Given the description of an element on the screen output the (x, y) to click on. 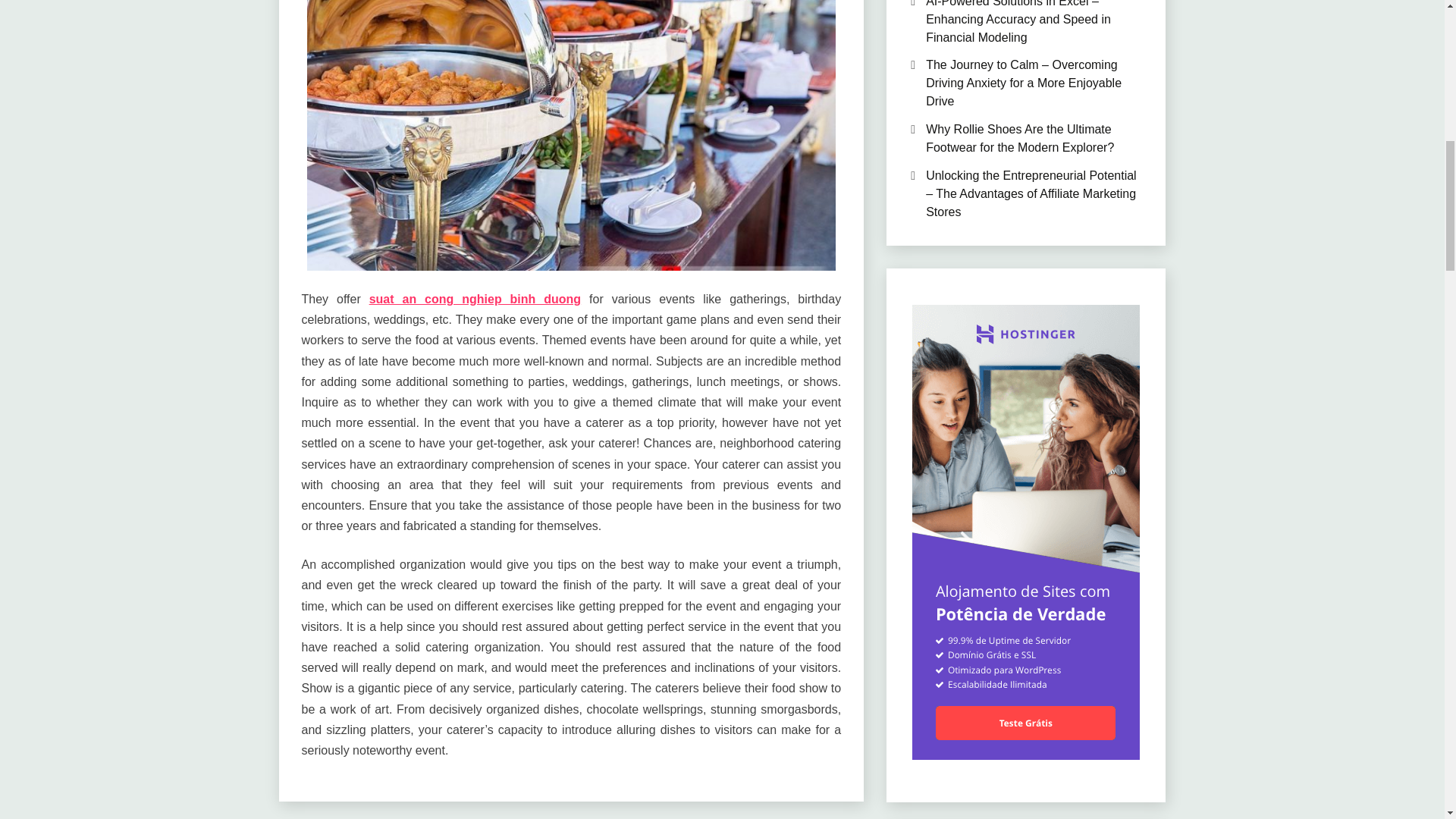
suat an cong nghiep binh duong (474, 298)
